Given the description of an element on the screen output the (x, y) to click on. 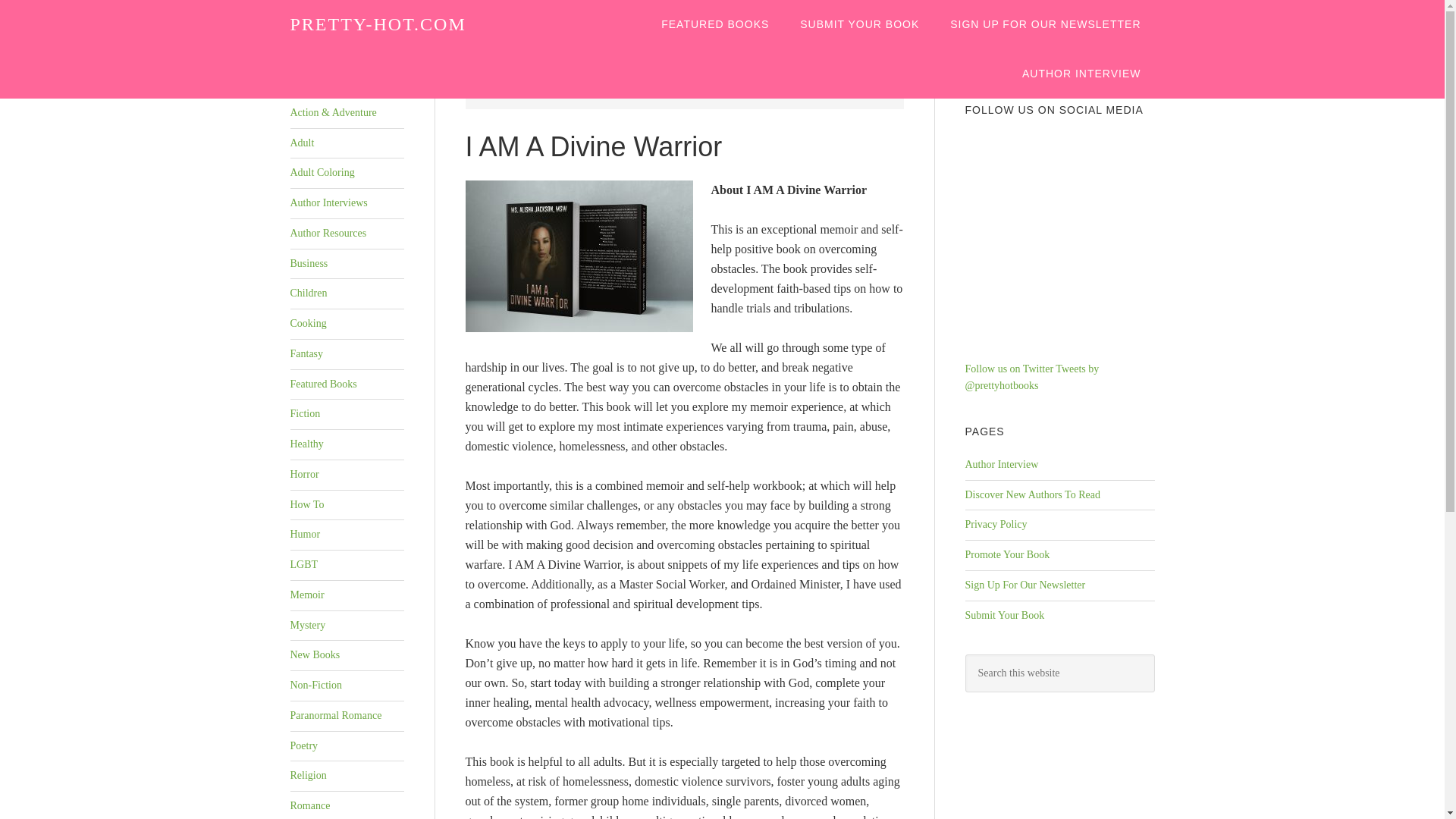
New Books (314, 654)
Newsletter sign up (1045, 24)
Adult (301, 142)
Author Interview (1000, 464)
Horror (303, 473)
Privacy Policy (994, 523)
Home (549, 90)
Author Interviews Free (1081, 73)
Memoir (306, 594)
FEATURED BOOKS (715, 24)
Poetry (303, 745)
Children (307, 292)
SUBMIT YOUR BOOK (859, 24)
